Given the description of an element on the screen output the (x, y) to click on. 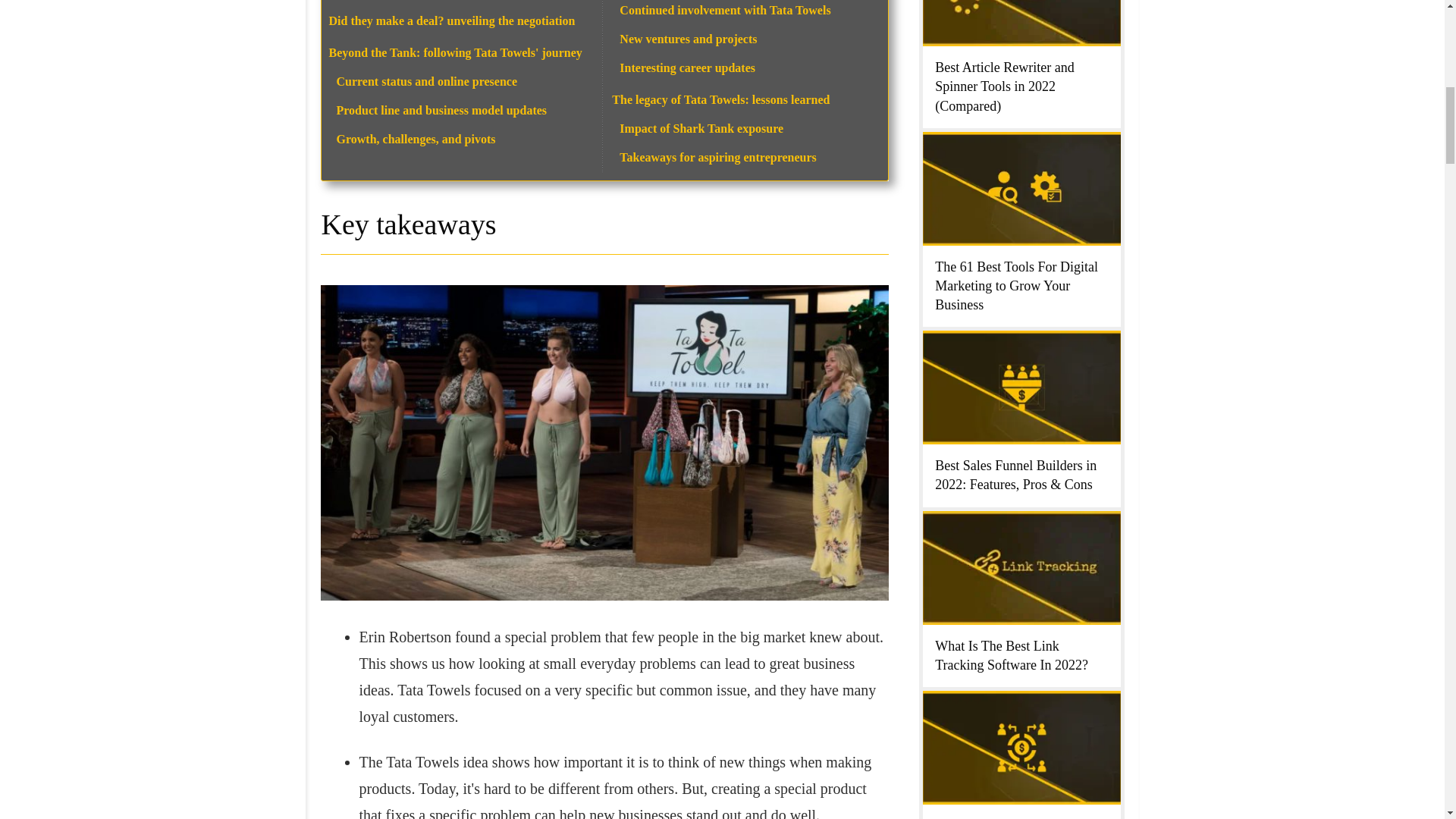
Did they make a deal? unveiling the negotiation (452, 20)
Impact of Shark Tank exposure (701, 128)
Growth, challenges, and pivots (416, 138)
What Is The Best Link Tracking Software In 2022? (1010, 655)
Current status and online presence (427, 81)
The legacy of Tata Towels: lessons learned (720, 99)
Takeaways for aspiring entrepreneurs (717, 156)
Continued involvement with Tata Towels (724, 10)
Beyond the Tank: following Tata Towels' journey (455, 51)
New ventures and projects (688, 38)
Product line and business model updates (441, 110)
Interesting career updates (687, 67)
